Given the description of an element on the screen output the (x, y) to click on. 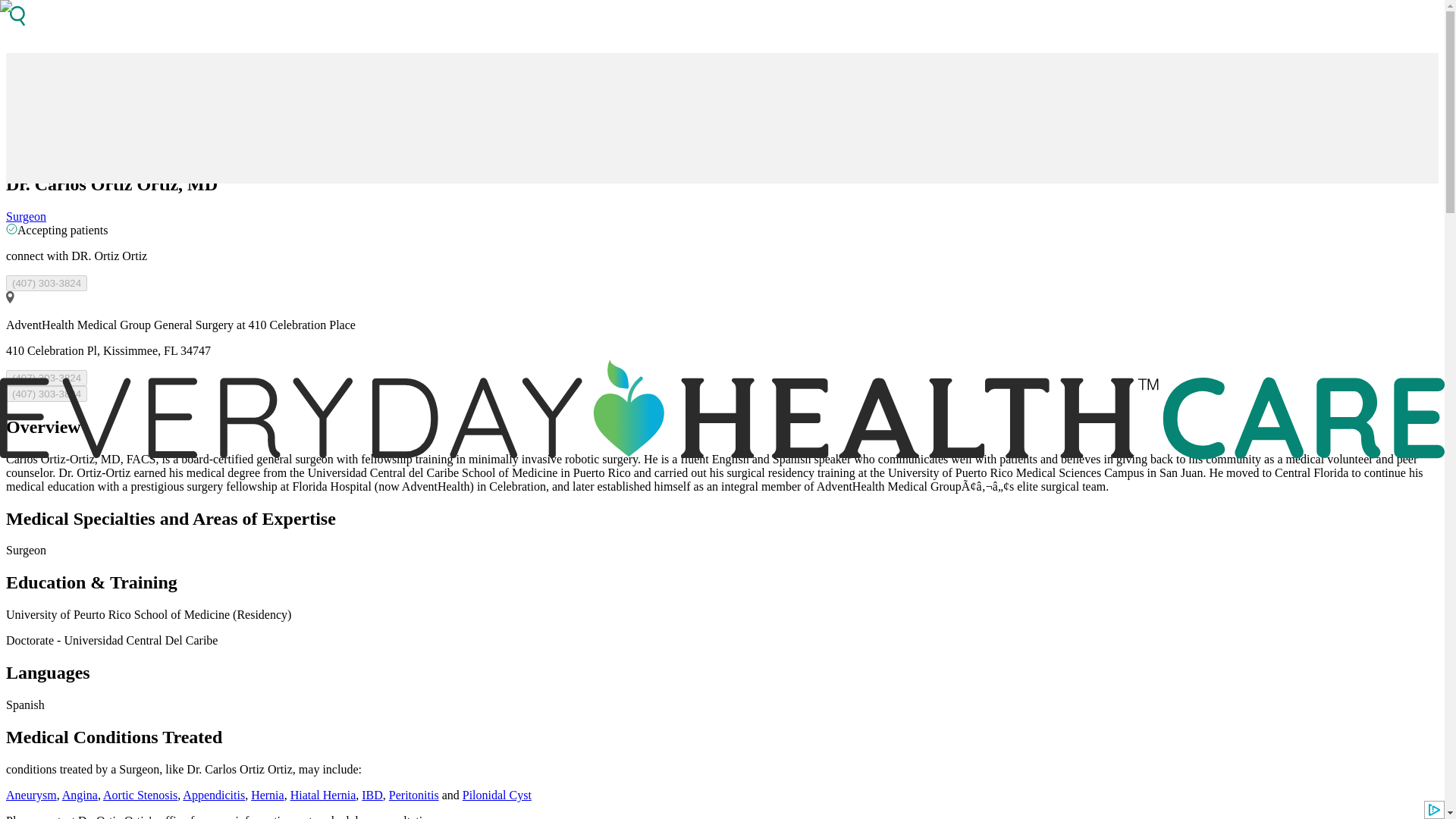
Angina (79, 794)
Appendicitis (213, 794)
IBD (371, 794)
Hernia (266, 794)
Hiatal Hernia (322, 794)
Aortic Stenosis (140, 794)
Surgeon (25, 215)
Aneurysm (30, 794)
Pilonidal Cyst (497, 794)
Peritonitis (413, 794)
